Given the description of an element on the screen output the (x, y) to click on. 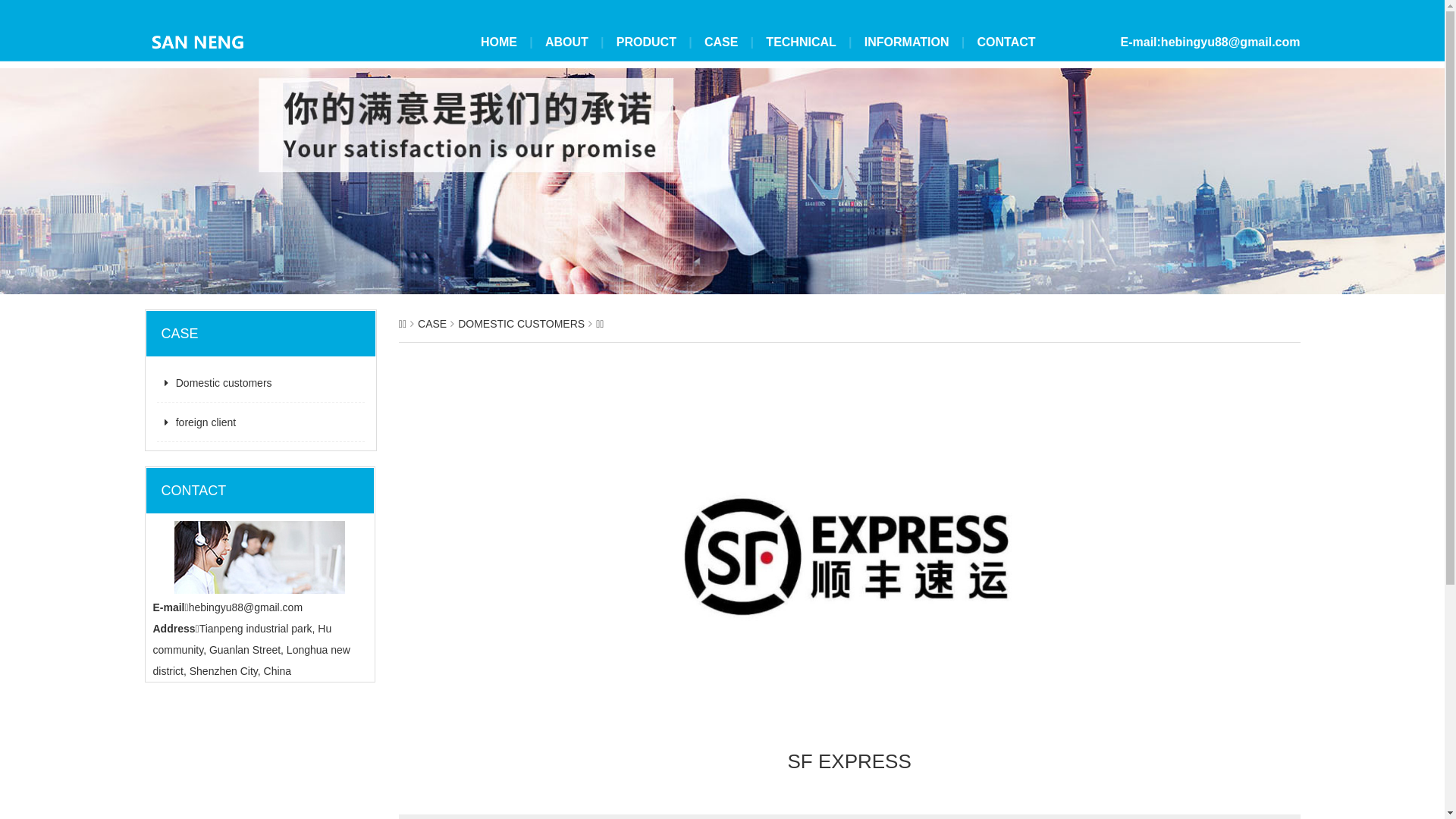
CASE Element type: text (720, 42)
CONTACT Element type: text (1005, 42)
HOME Element type: text (498, 42)
Domestic customers Element type: text (260, 383)
ABOUT Element type: text (566, 42)
TECHNICAL Element type: text (800, 42)
INFORMATION Element type: text (906, 42)
PRODUCT Element type: text (646, 42)
DOMESTIC CUSTOMERS Element type: text (521, 323)
CASE Element type: text (431, 323)
foreign client Element type: text (260, 422)
